Given the description of an element on the screen output the (x, y) to click on. 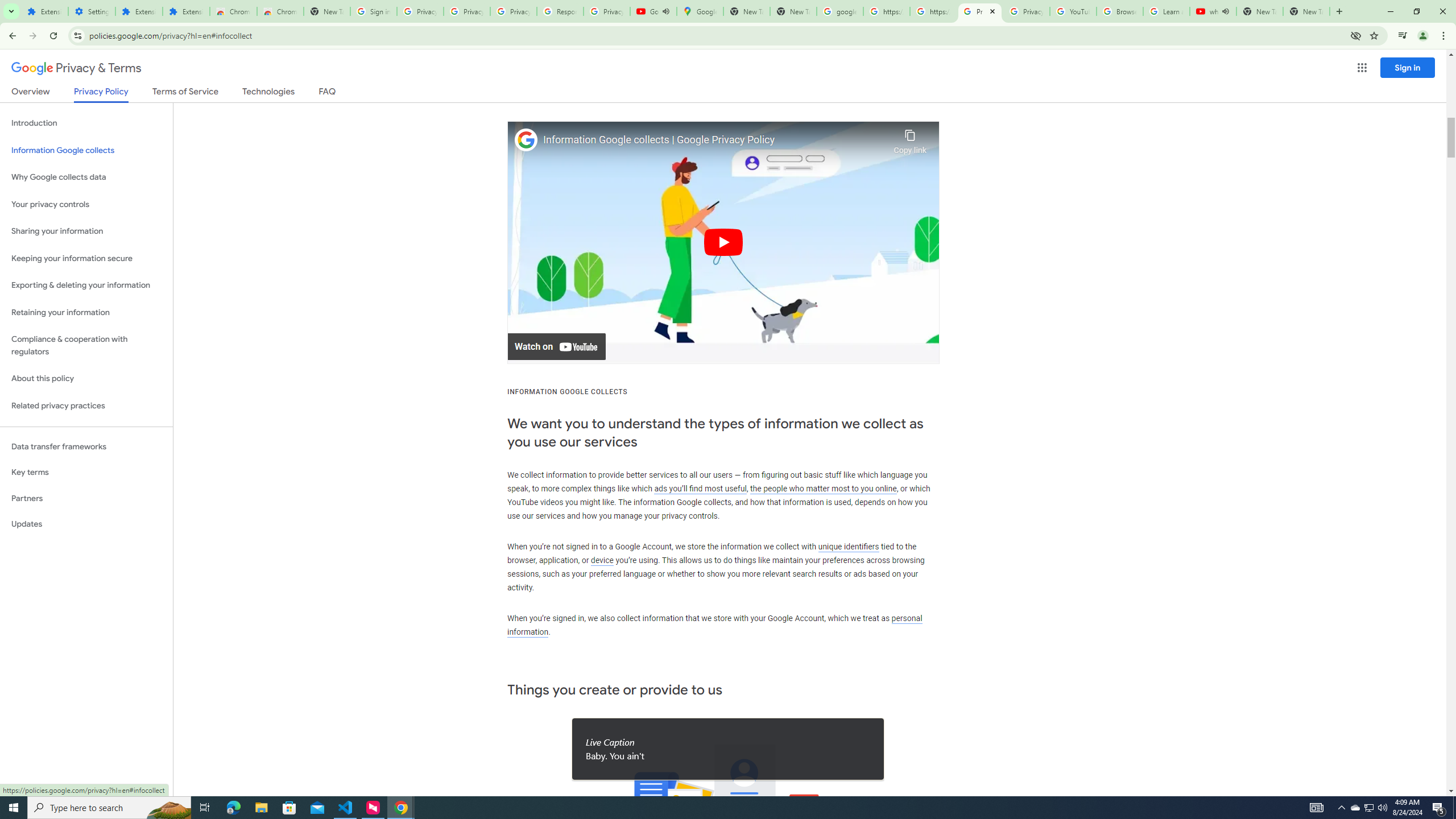
Copy link (909, 139)
Chrome Web Store - Themes (279, 11)
Related privacy practices (86, 405)
Compliance & cooperation with regulators (86, 345)
device (601, 560)
Extensions (138, 11)
Data transfer frameworks (86, 446)
YouTube (1073, 11)
https://scholar.google.com/ (933, 11)
https://scholar.google.com/ (886, 11)
